Given the description of an element on the screen output the (x, y) to click on. 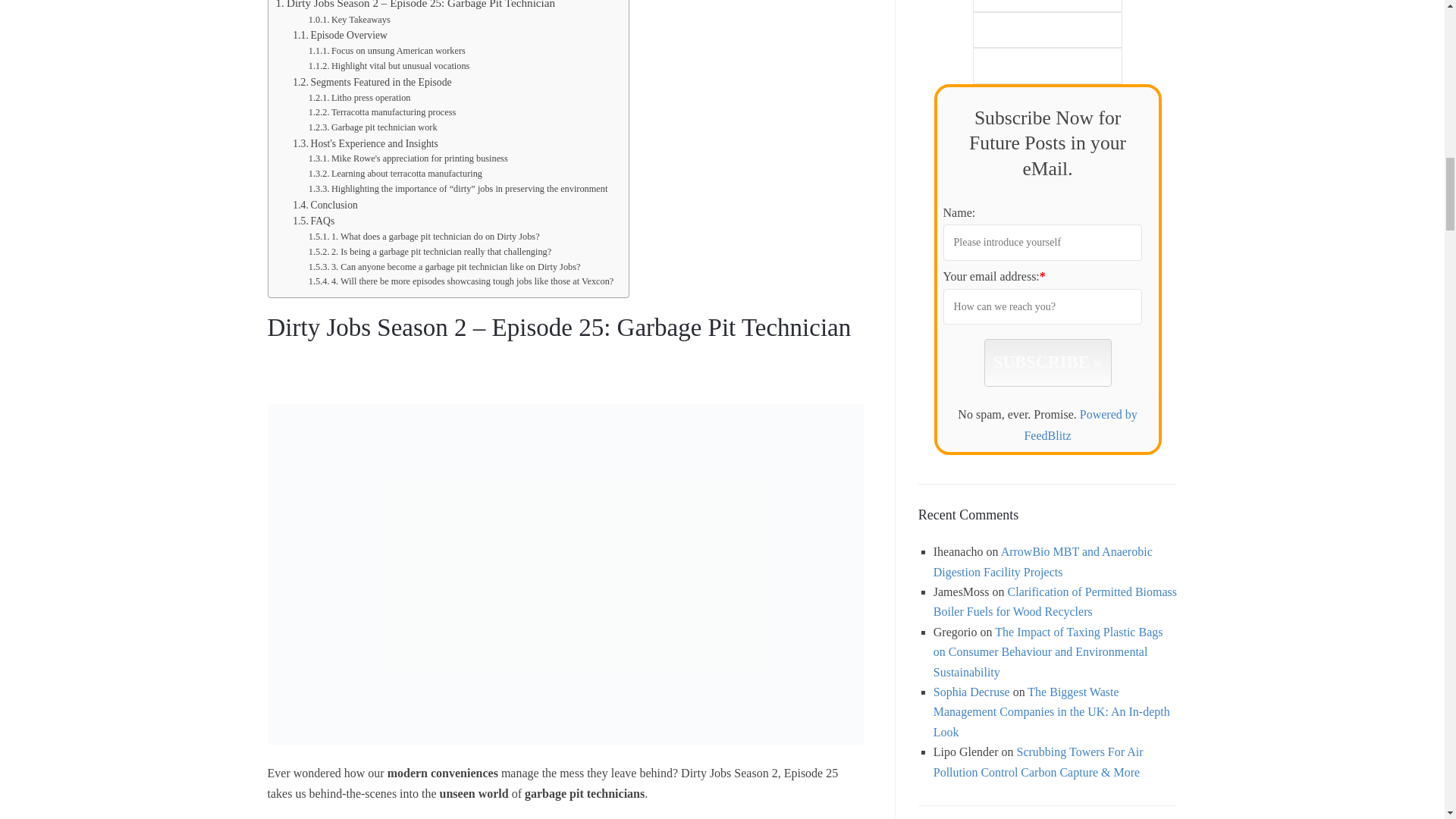
Garbage pit technician work (373, 127)
Terracotta manufacturing process (382, 112)
Focus on unsung American workers (386, 51)
Terracotta manufacturing process (382, 112)
Mike Rowe's appreciation for printing business (408, 159)
Highlight vital but unusual vocations (389, 66)
Mike Rowe's appreciation for printing business (408, 159)
Focus on unsung American workers (386, 51)
Conclusion (325, 205)
Litho press operation (359, 98)
Highlight vital but unusual vocations (389, 66)
Host's Experience and Insights (365, 143)
Segments Featured in the Episode (371, 82)
Key Takeaways (349, 20)
Learning about terracotta manufacturing (394, 174)
